Given the description of an element on the screen output the (x, y) to click on. 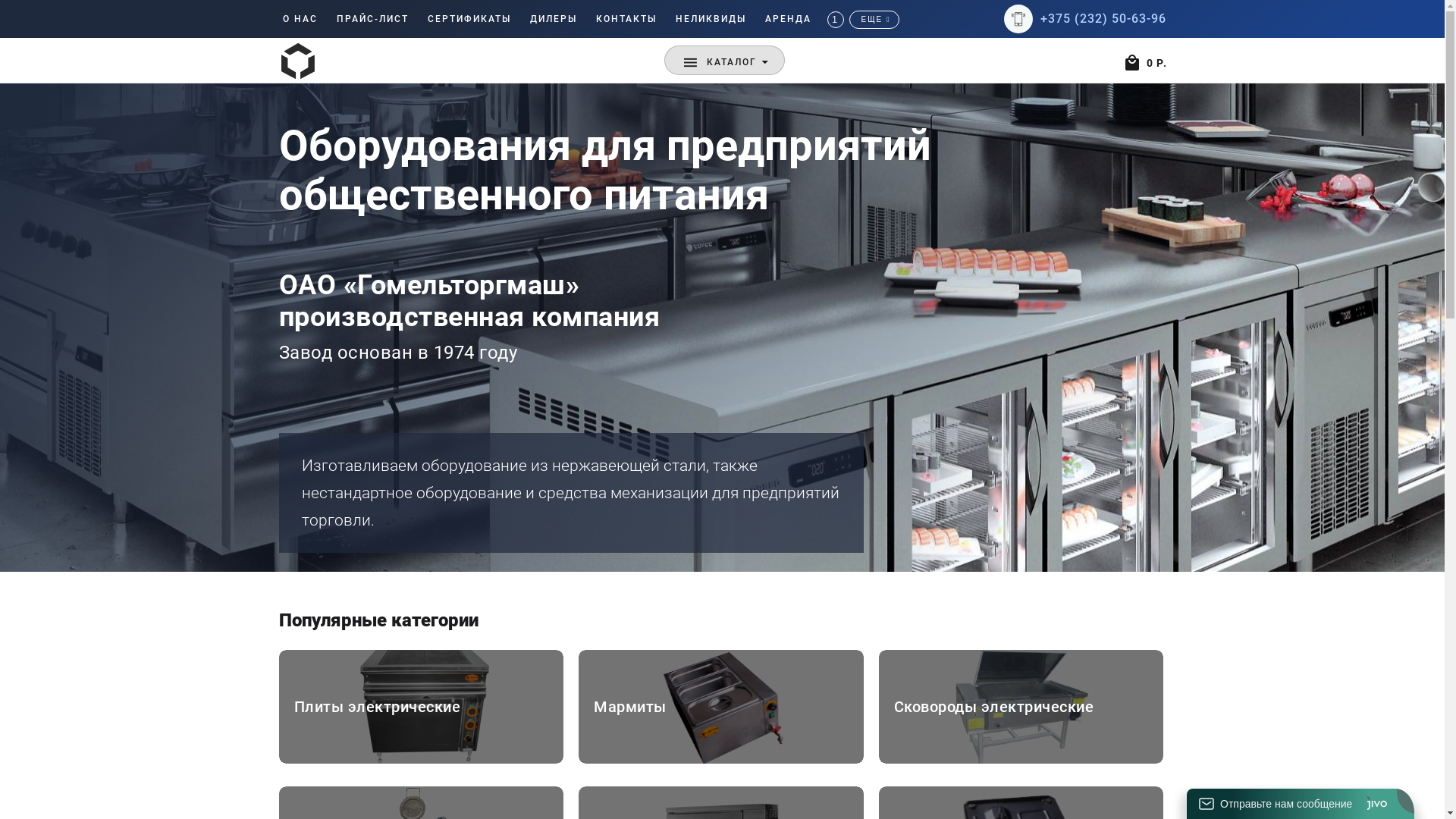
+375 (232) 50-63-96 Element type: text (1103, 18)
